Given the description of an element on the screen output the (x, y) to click on. 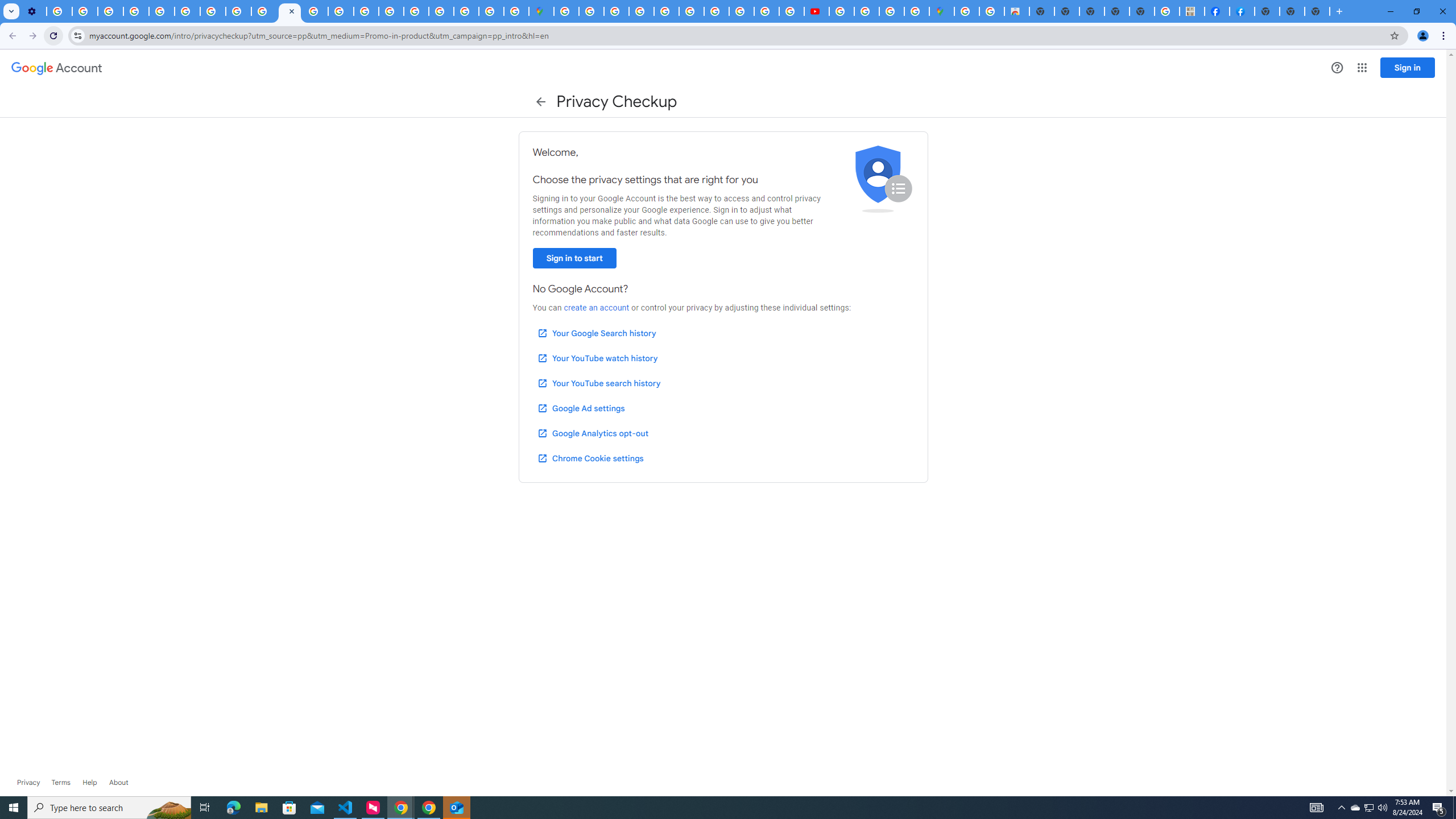
How Chrome protects your passwords - Google Chrome Help (841, 11)
Miley Cyrus | Facebook (1216, 11)
Privacy Checkup (289, 11)
Terms and Conditions (666, 11)
Delete photos & videos - Computer - Google Photos Help (59, 11)
MILEY CYRUS. (1191, 11)
New Tab (1266, 11)
Privacy Checkup (264, 11)
Your YouTube search history (598, 383)
